Given the description of an element on the screen output the (x, y) to click on. 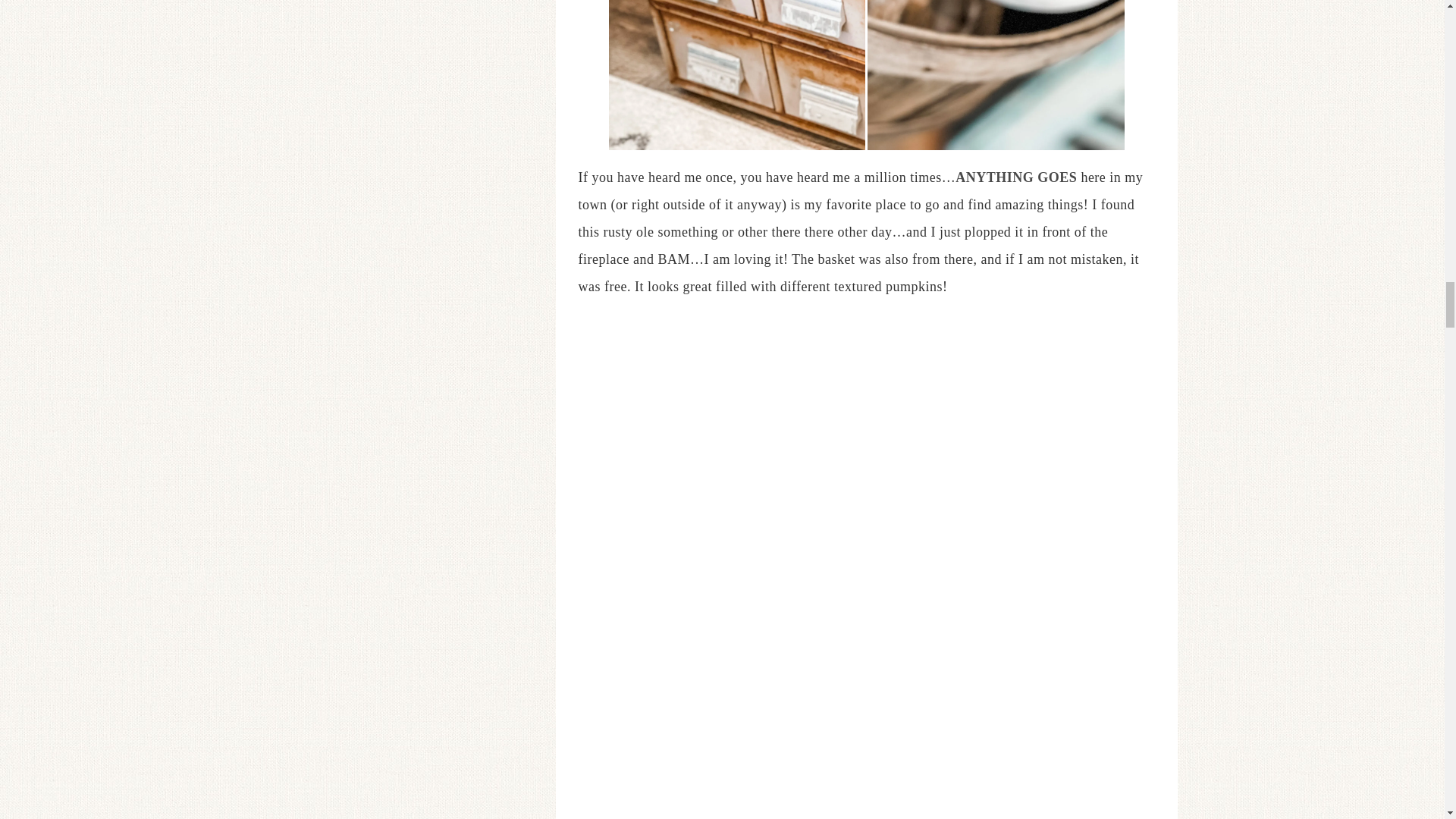
ANYTHING GOES (1016, 177)
